Given the description of an element on the screen output the (x, y) to click on. 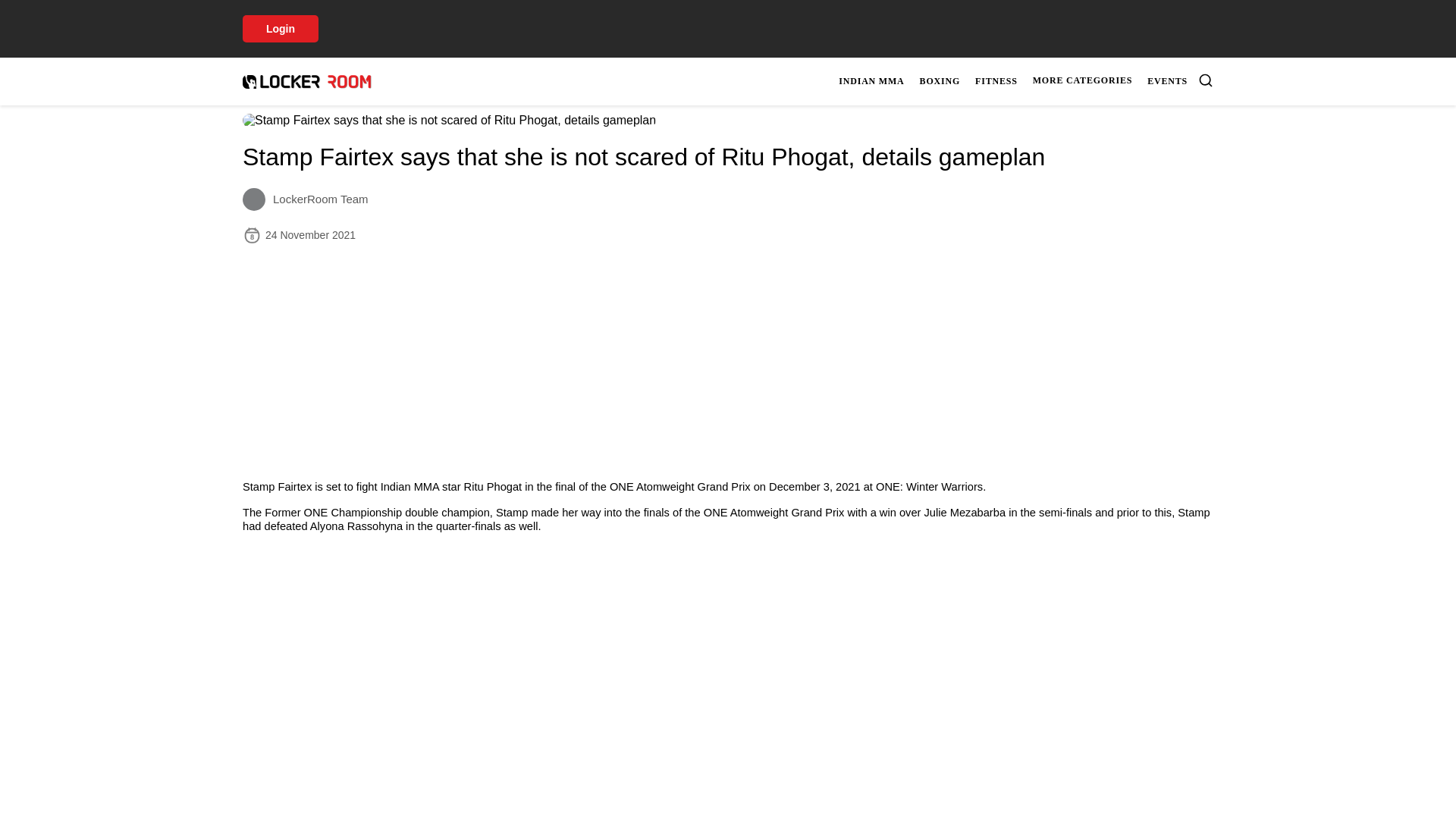
EVENTS (1167, 81)
FITNESS (996, 81)
BOXING (939, 81)
INDIAN MMA (871, 81)
MORE CATEGORIES (1082, 80)
YouTube video player (1023, 81)
